Given the description of an element on the screen output the (x, y) to click on. 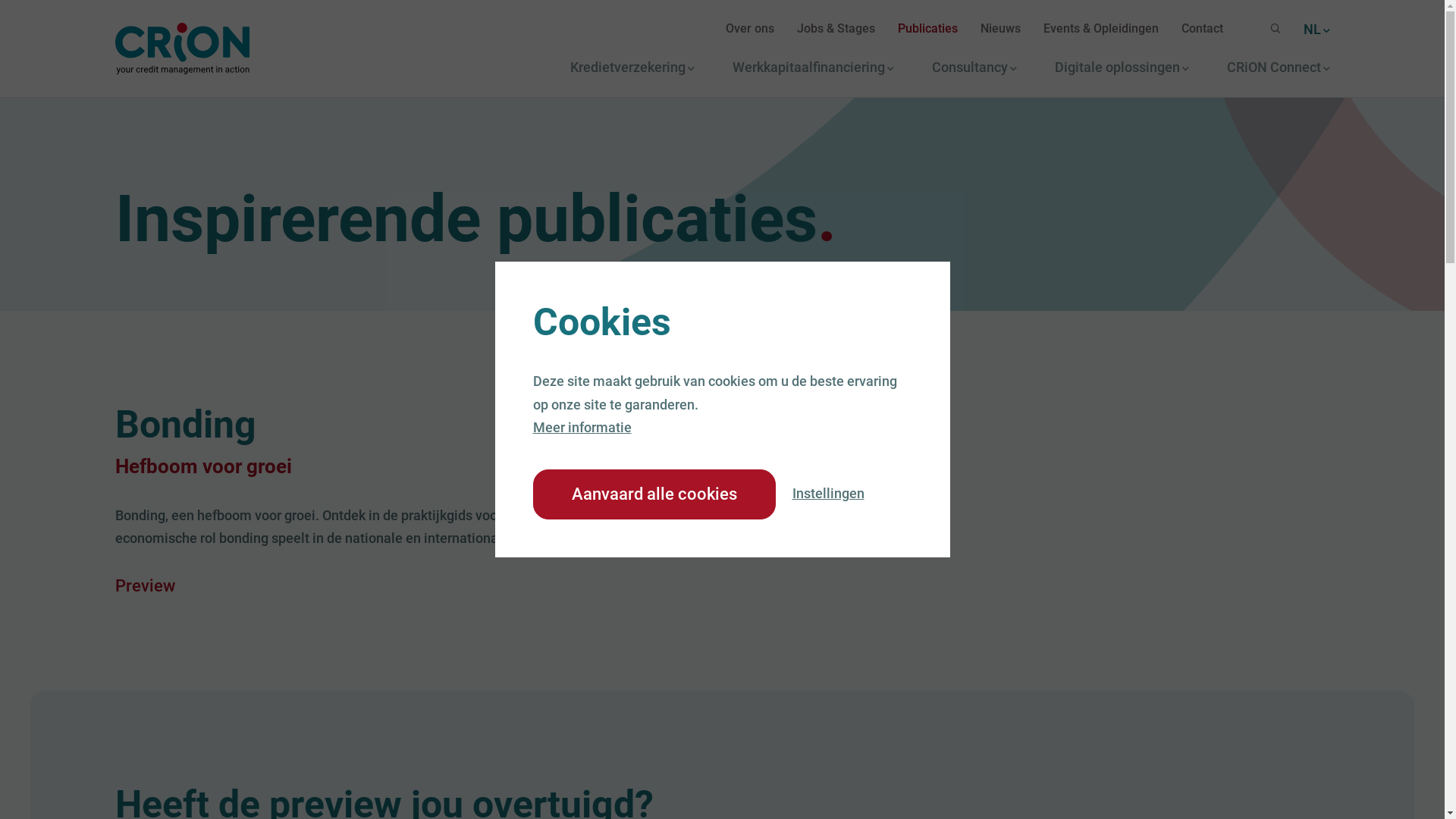
CRiON Connect Element type: text (1278, 67)
Contact Element type: text (1202, 28)
Jobs & Stages Element type: text (835, 28)
Consultancy Element type: text (973, 67)
Preview Element type: text (145, 585)
Meer informatie Element type: text (581, 427)
Over ons Element type: text (748, 28)
Kredietverzekering Element type: text (632, 67)
Aanvaard alle cookies Element type: text (653, 494)
Publicaties Element type: text (927, 28)
Digitale oplossingen Element type: text (1121, 67)
Events & Opleidingen Element type: text (1100, 28)
Instellingen Element type: text (827, 493)
NL Element type: text (1315, 29)
Nieuws Element type: text (999, 28)
Werkkapitaalfinanciering Element type: text (813, 67)
